Given the description of an element on the screen output the (x, y) to click on. 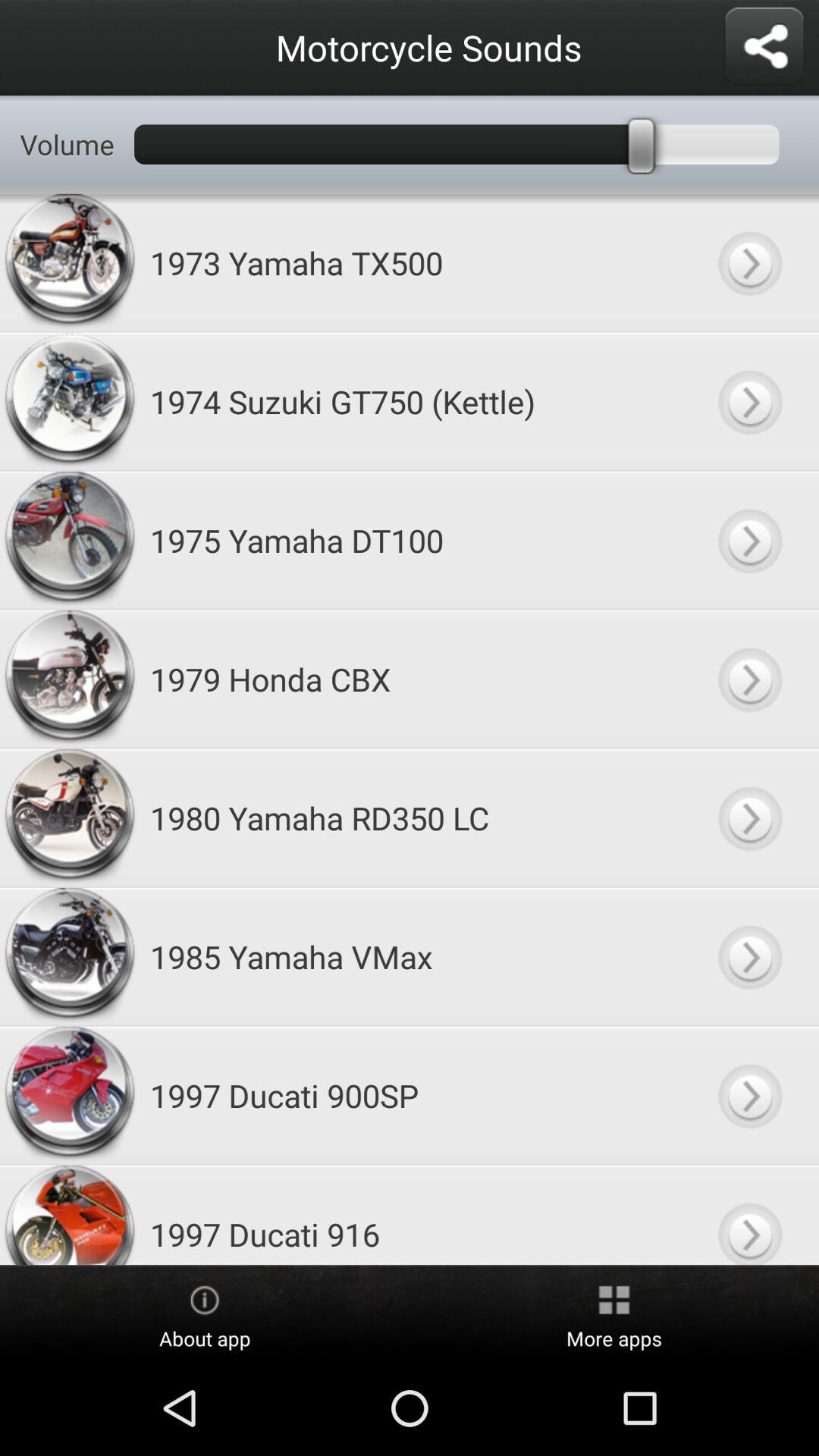
play sound (749, 401)
